Given the description of an element on the screen output the (x, y) to click on. 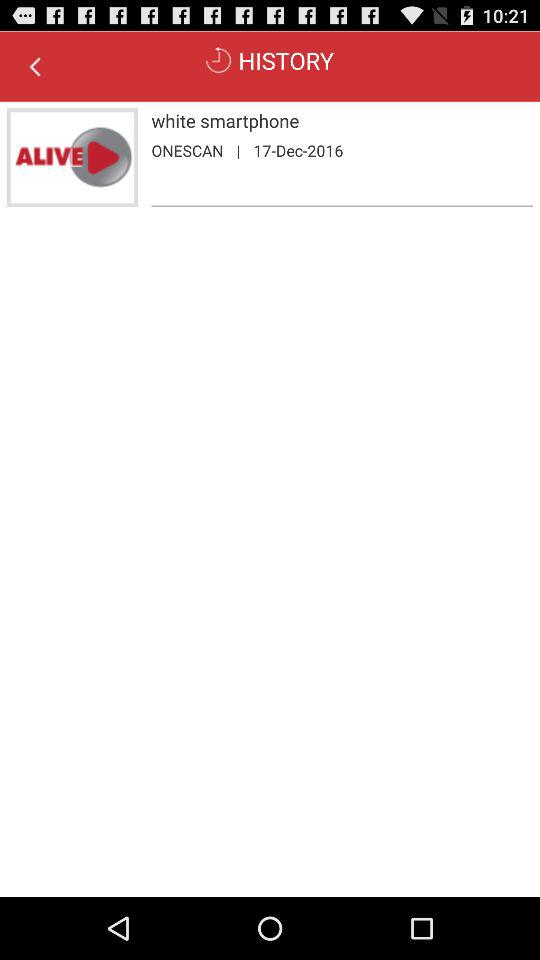
launch the app below white smartphone app (238, 150)
